Given the description of an element on the screen output the (x, y) to click on. 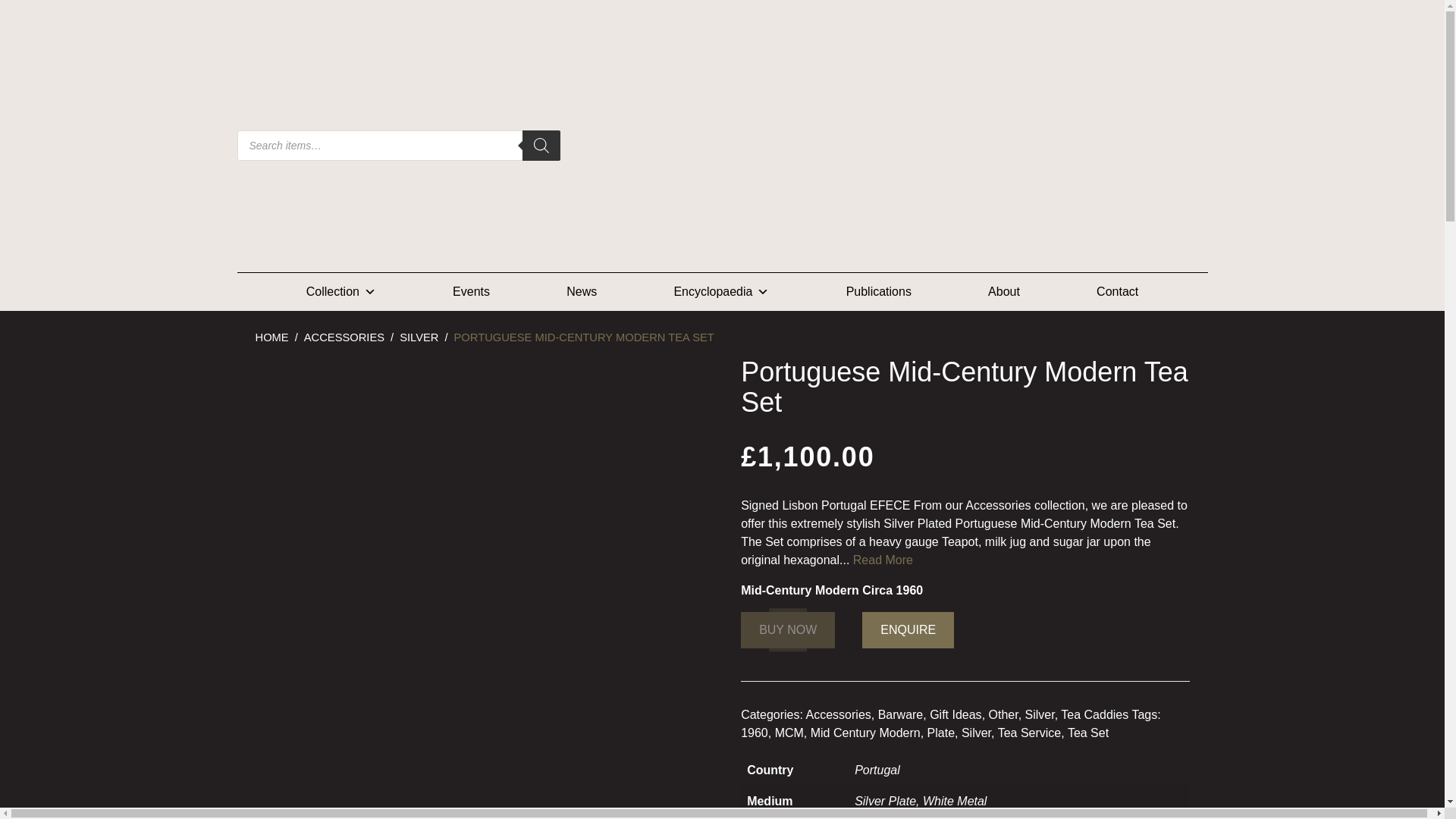
Contact (1117, 291)
About (1003, 291)
News (581, 291)
Encyclopaedia (720, 291)
HOME (271, 337)
SILVER (418, 337)
Collection (341, 291)
Events (471, 291)
ACCESSORIES (344, 337)
Publications (878, 291)
